Given the description of an element on the screen output the (x, y) to click on. 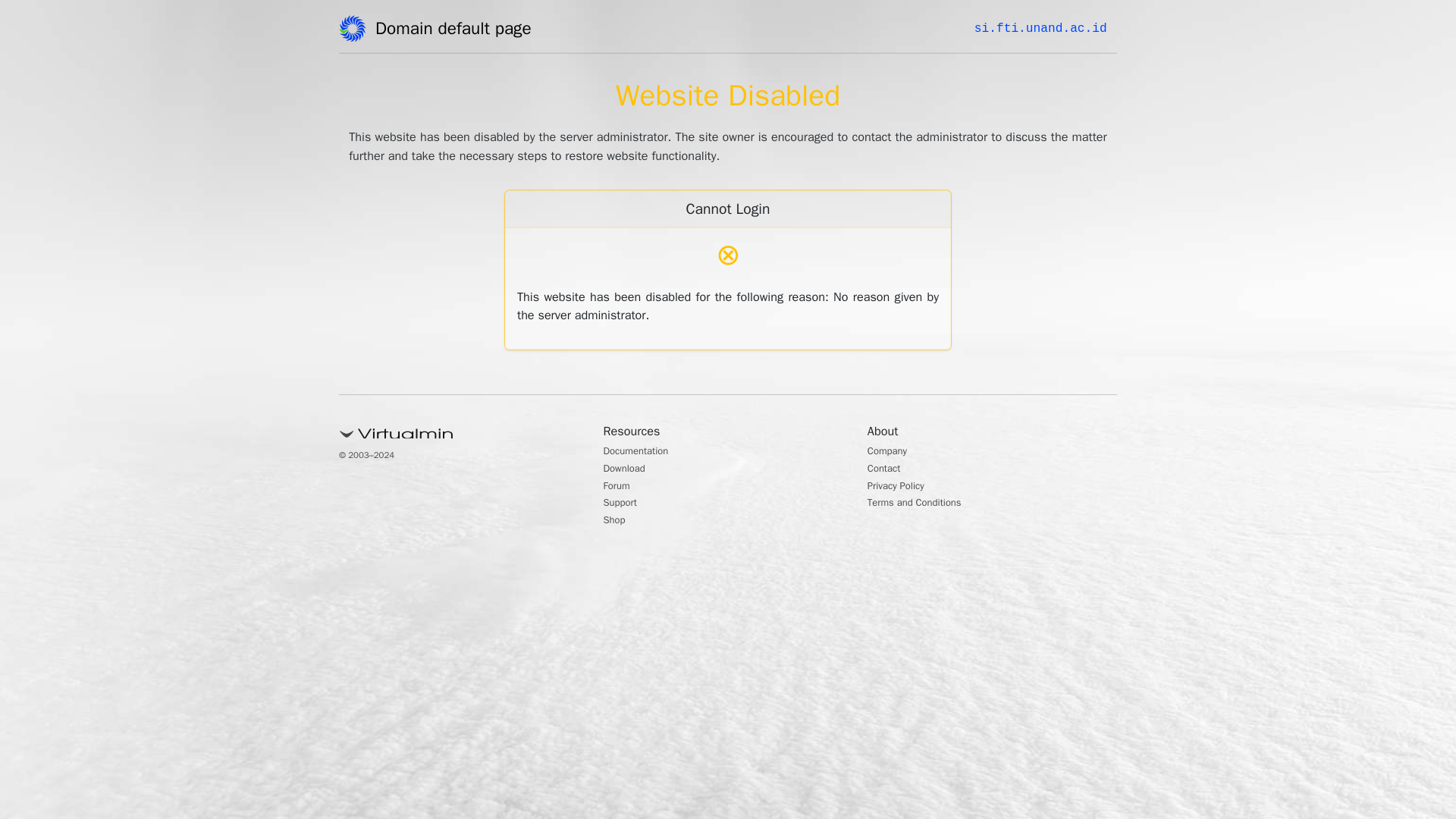
Terms and Conditions (925, 503)
Contact (887, 469)
Support (624, 503)
Privacy Policy (902, 487)
Company (891, 452)
Forum (620, 487)
Documentation (644, 452)
Shop (617, 521)
Domain default page (457, 31)
Download (629, 469)
